Given the description of an element on the screen output the (x, y) to click on. 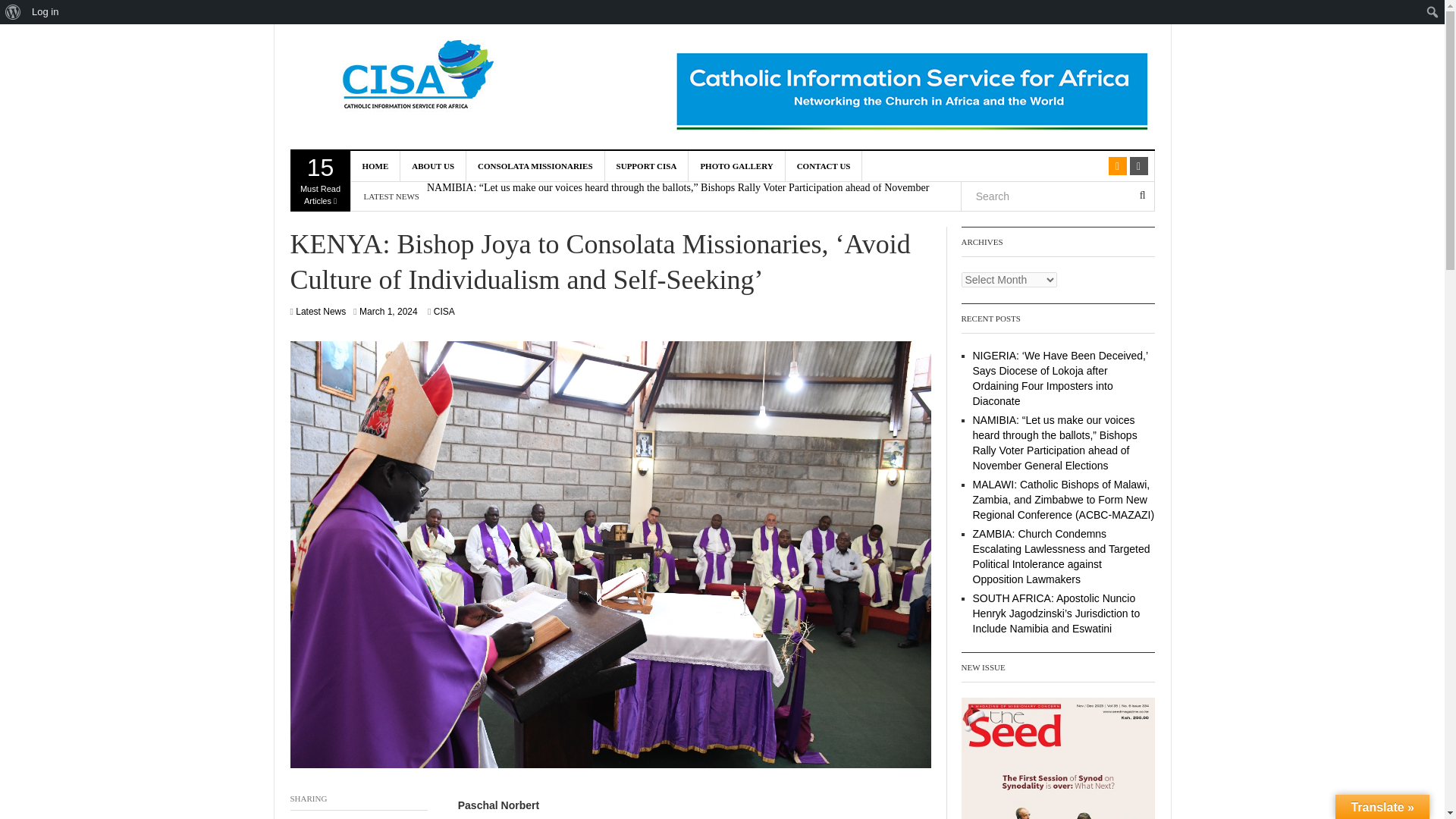
CONSOLATA MISSIONARIES (535, 165)
CONTACT US (824, 165)
CISA (443, 311)
PHOTO GALLERY (736, 165)
Cisa News Africa (423, 77)
SUPPORT CISA (319, 180)
NEW ISSUE (646, 165)
Latest News (1057, 758)
March 1, 2024 (320, 311)
HOME (388, 311)
ABOUT US (375, 165)
